Given the description of an element on the screen output the (x, y) to click on. 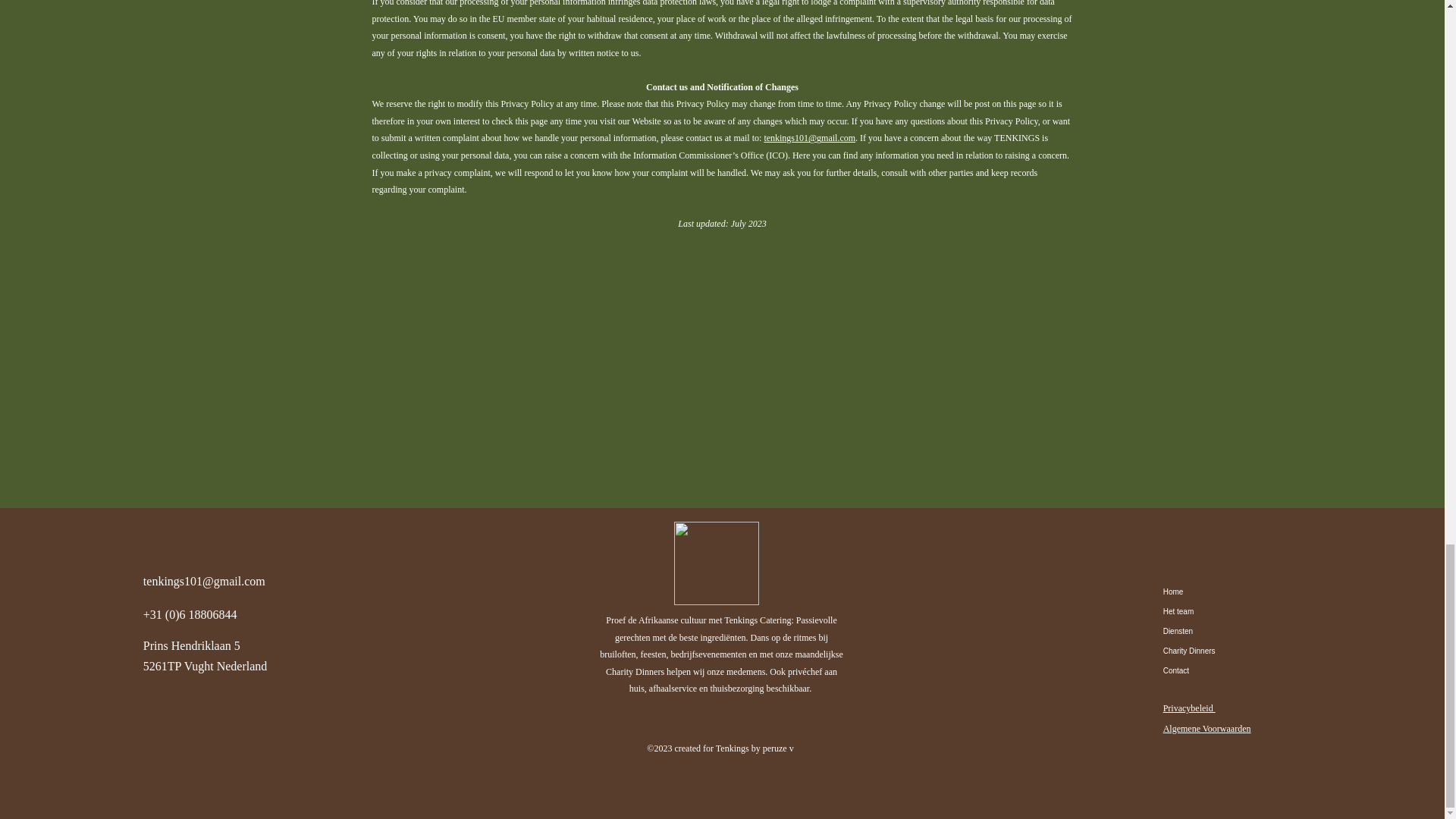
Diensten (1216, 631)
Privacybeleid  (1189, 707)
Contact (1216, 670)
Het team (1216, 611)
Charity Dinners (1216, 650)
Algemene Voorwaarden (1206, 728)
Home (1216, 591)
